Given the description of an element on the screen output the (x, y) to click on. 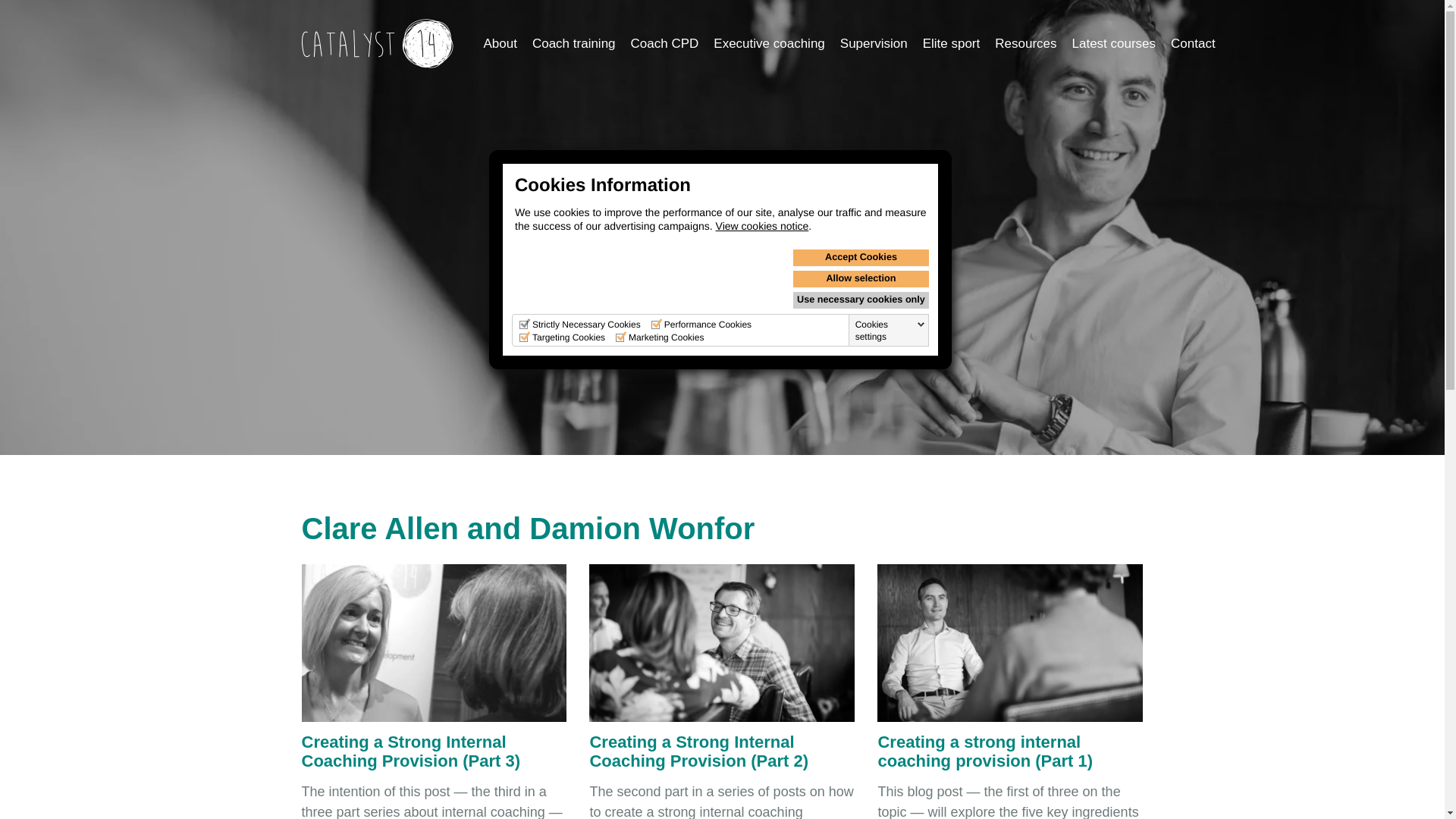
About (500, 43)
View cookies notice (762, 225)
Accept Cookies (860, 257)
Allow selection (860, 279)
Use necessary cookies only (860, 299)
Cookies settings (889, 330)
